Given the description of an element on the screen output the (x, y) to click on. 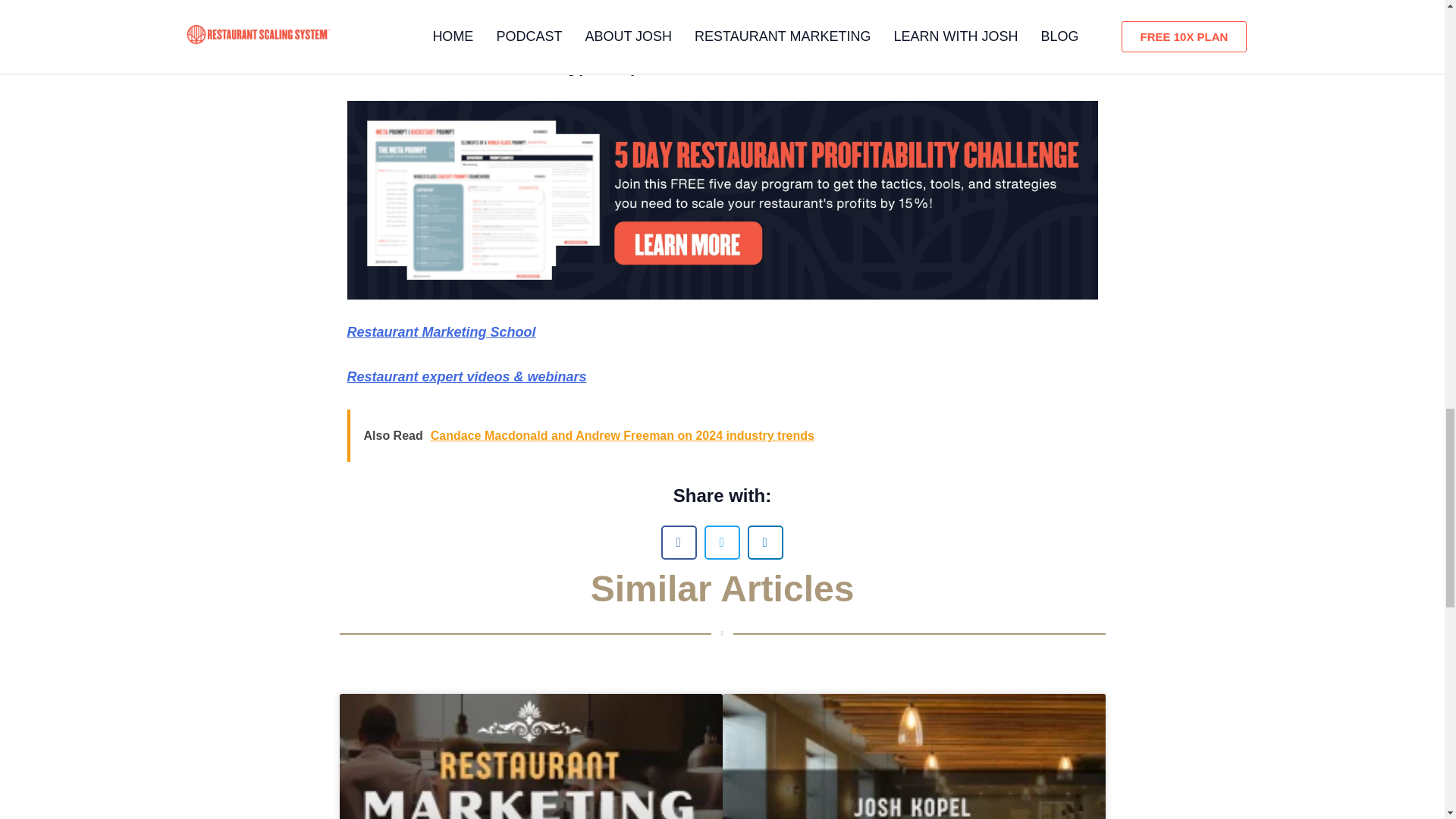
Restaurant Marketing School (441, 331)
